Given the description of an element on the screen output the (x, y) to click on. 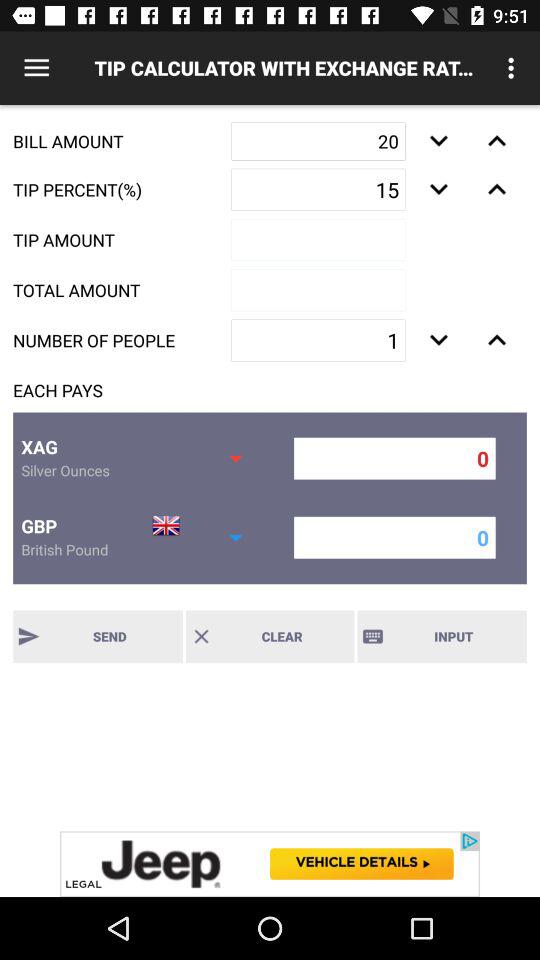
click to increasing number (438, 340)
